Given the description of an element on the screen output the (x, y) to click on. 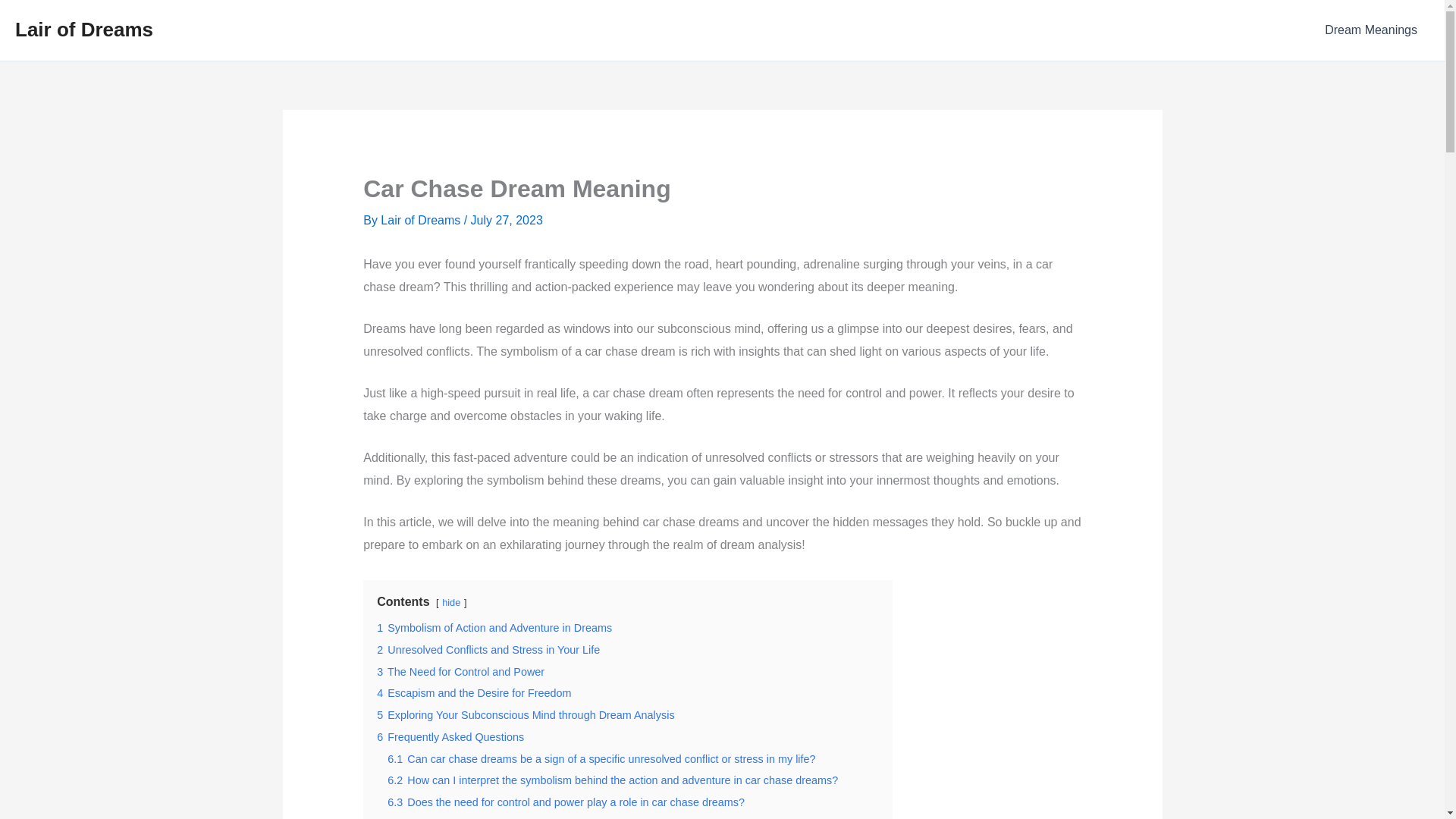
Lair of Dreams (83, 29)
5 Exploring Your Subconscious Mind through Dream Analysis (525, 715)
Dream Meanings (1371, 30)
2 Unresolved Conflicts and Stress in Your Life (488, 649)
3 The Need for Control and Power (460, 671)
Lair of Dreams (421, 219)
hide (451, 602)
1 Symbolism of Action and Adventure in Dreams (494, 627)
4 Escapism and the Desire for Freedom (473, 693)
6 Frequently Asked Questions (450, 736)
View all posts by Lair of Dreams (421, 219)
